Given the description of an element on the screen output the (x, y) to click on. 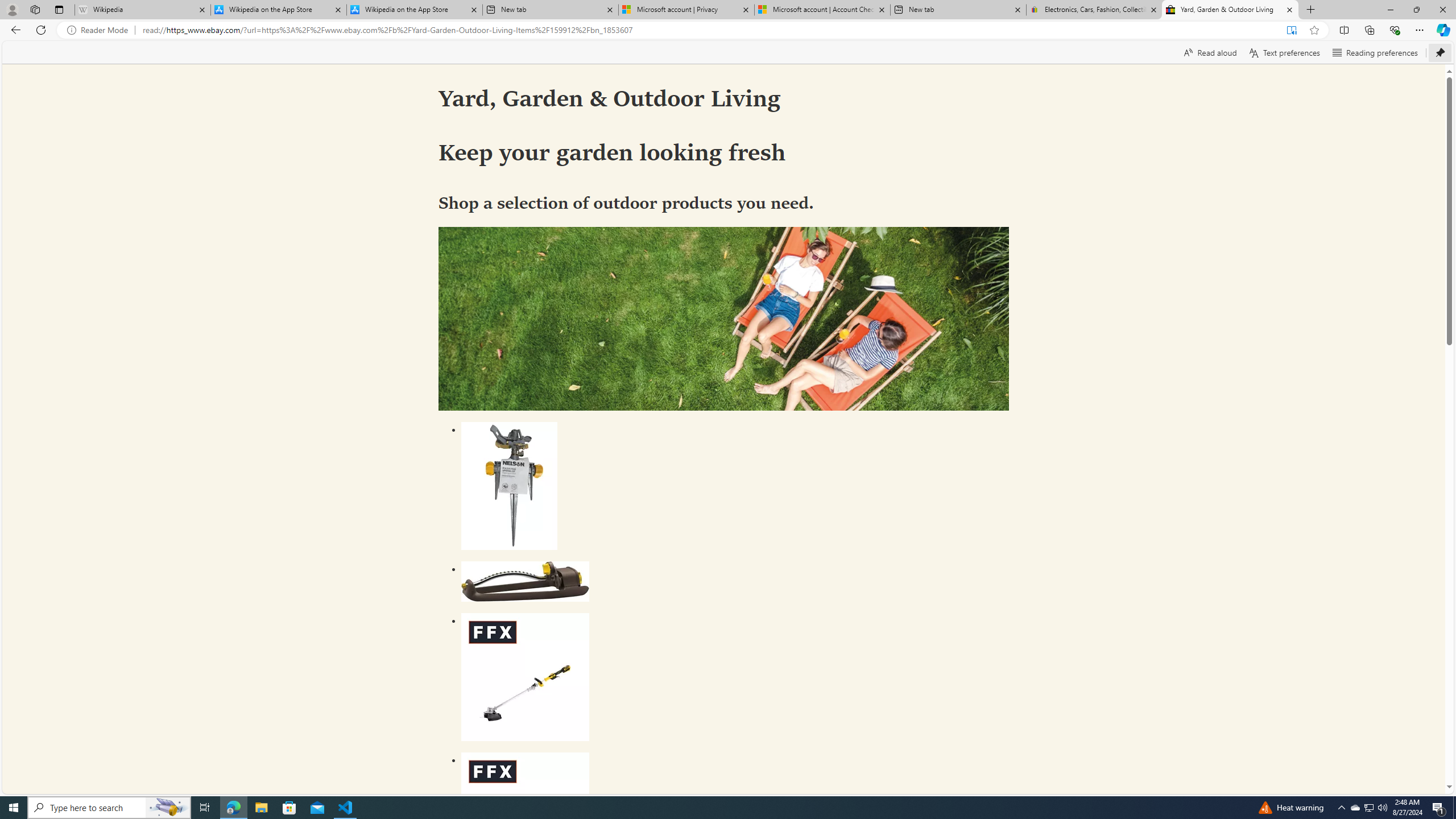
Text preferences (1283, 52)
Elevate your outdoors (723, 318)
Reading preferences (1374, 52)
Unpin toolbar (1439, 52)
Electronics, Cars, Fashion, Collectibles & More | eBay (1094, 9)
